Given the description of an element on the screen output the (x, y) to click on. 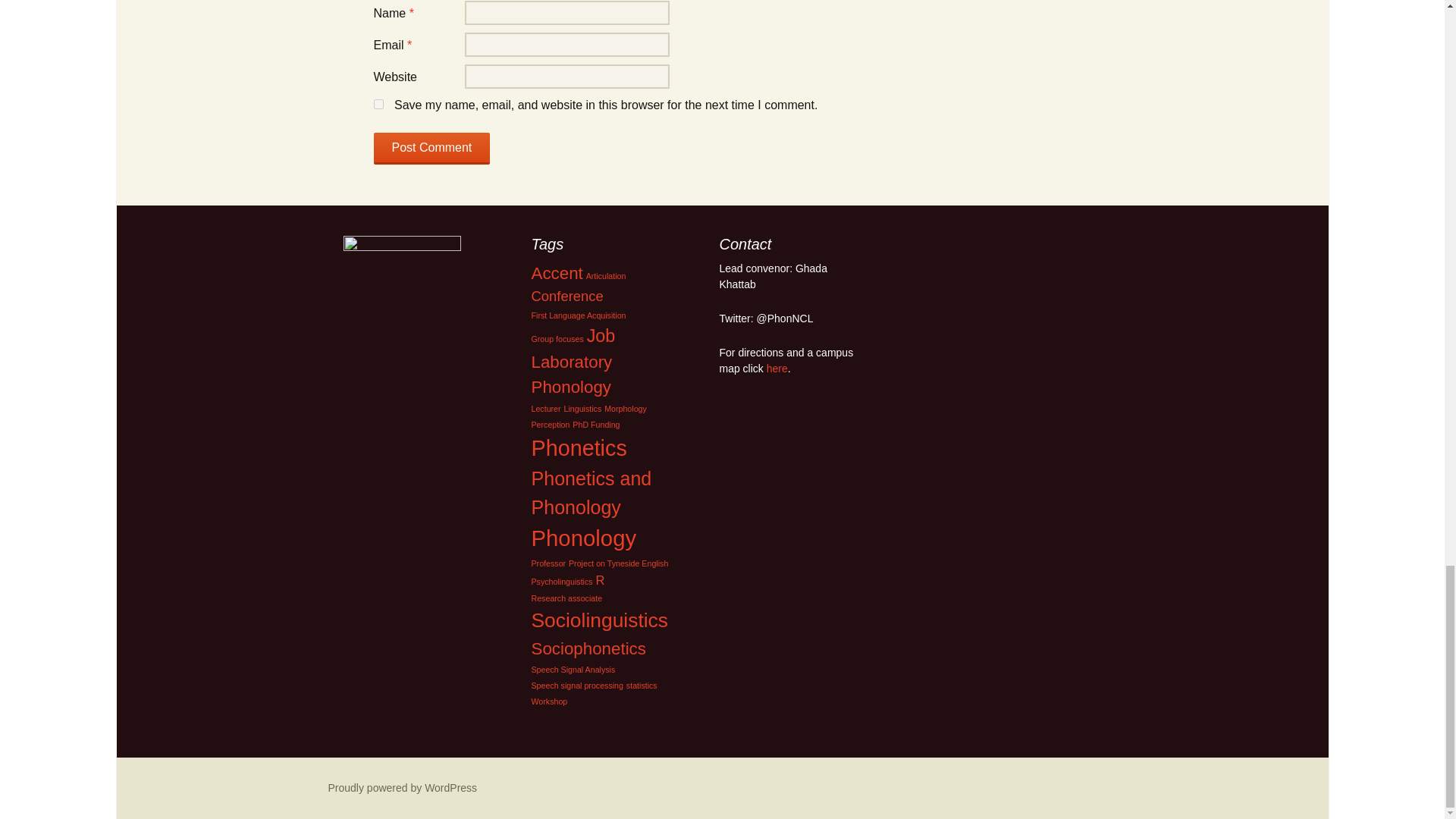
yes (377, 103)
Conference (566, 295)
First Language Acquisition (578, 315)
Post Comment (430, 148)
Accent (556, 272)
Articulation (606, 275)
Post Comment (430, 148)
